Given the description of an element on the screen output the (x, y) to click on. 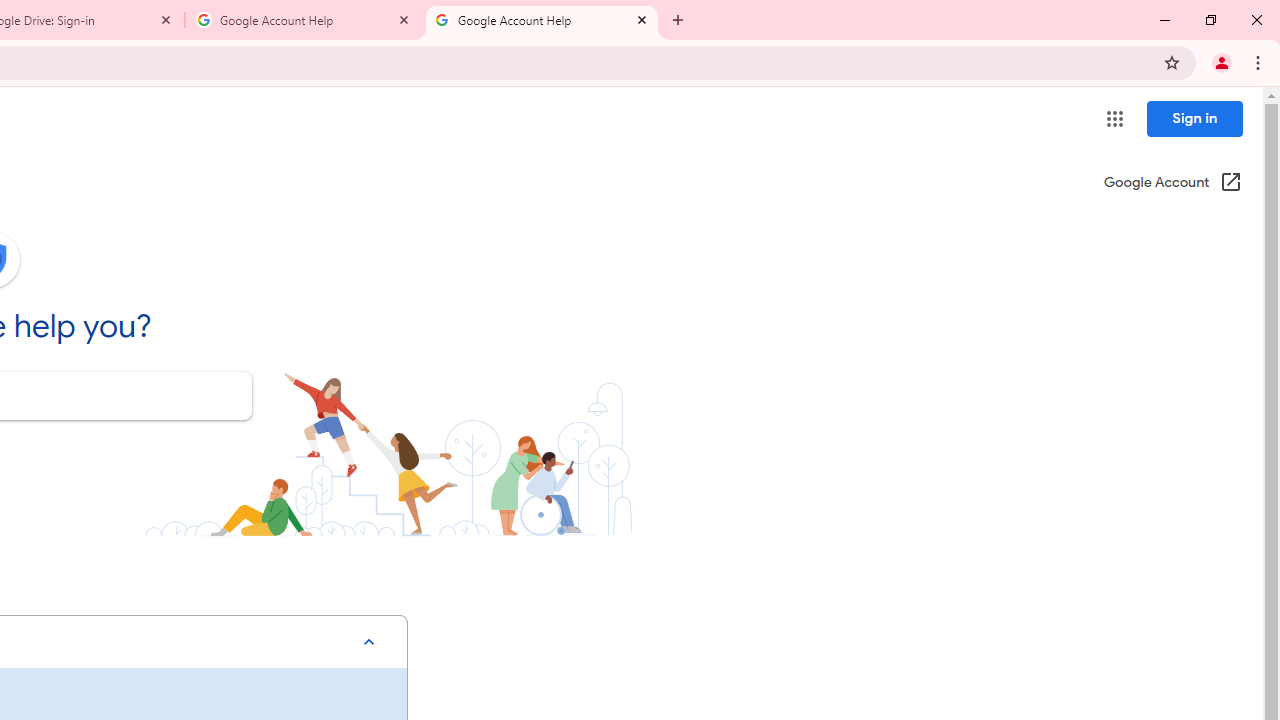
Google Account Help (304, 20)
Google Account Help (541, 20)
Google Account (Open in a new window) (1172, 183)
